Given the description of an element on the screen output the (x, y) to click on. 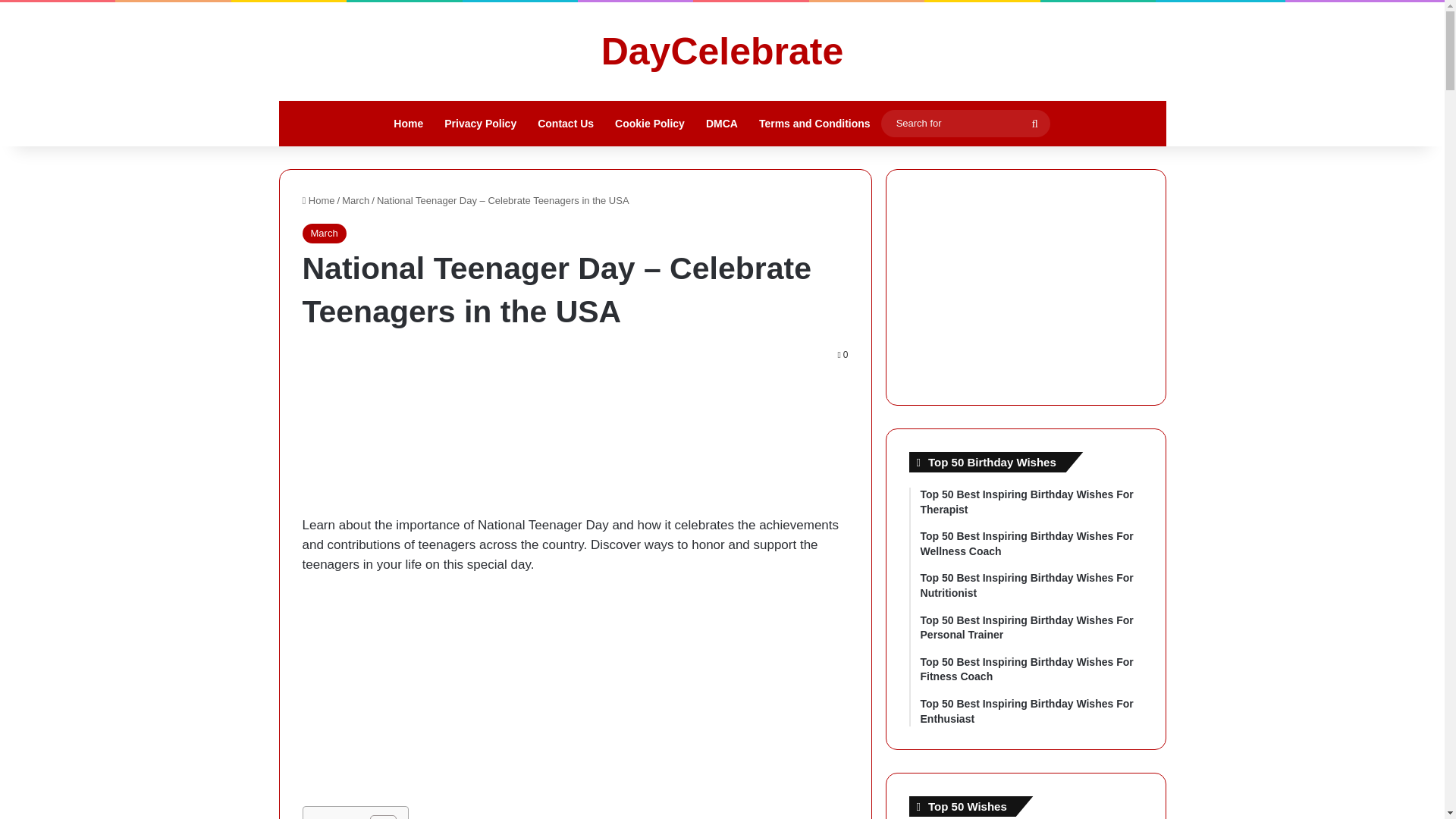
Home (407, 123)
DayCelebrate (722, 51)
Terms and Conditions (814, 123)
DayCelebrate (722, 51)
Privacy Policy (480, 123)
DMCA (721, 123)
Advertisement (574, 447)
Contact Us (565, 123)
Search for (964, 122)
Advertisement (574, 699)
Cookie Policy (649, 123)
Home (317, 200)
SEARCH FOR (1034, 123)
March (323, 233)
March (355, 200)
